Given the description of an element on the screen output the (x, y) to click on. 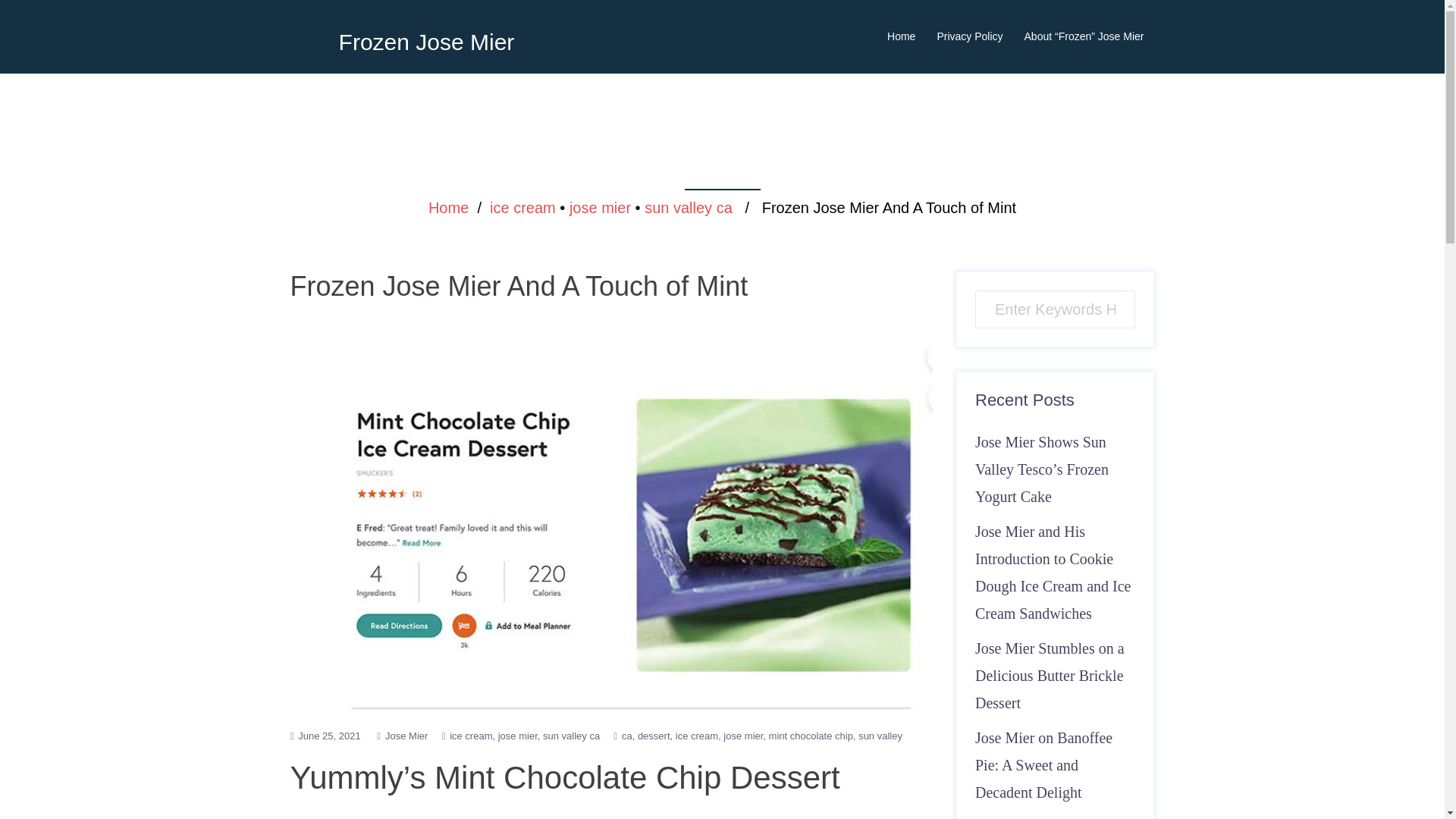
June 25, 2021 (328, 736)
Home (900, 36)
jose mier (520, 736)
dessert (656, 736)
ice cream (699, 736)
Jose Mier on Banoffee Pie: A Sweet and Decadent Delight (1043, 764)
Privacy Policy (969, 36)
jose mier (599, 207)
jose mier (745, 736)
sun valley ca (571, 736)
Search (50, 18)
Jose Mier (406, 736)
sun valley (880, 736)
mint chocolate chip (813, 736)
